Given the description of an element on the screen output the (x, y) to click on. 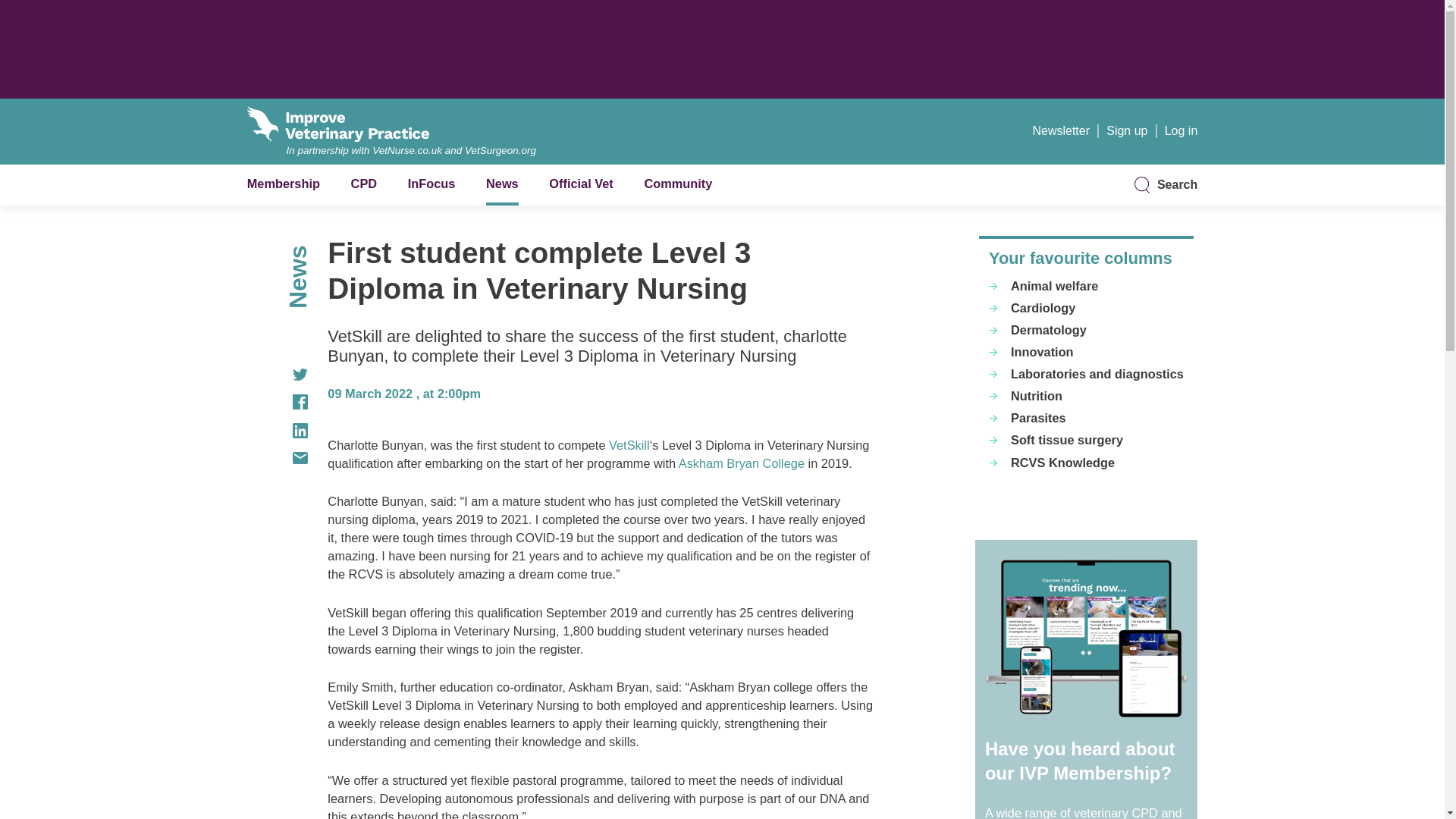
Share on Facebook (277, 401)
Log in (1181, 130)
News (502, 183)
Official Vet (580, 183)
Askham Bryan College (741, 463)
InFocus (431, 183)
Share on LinkedIn (277, 430)
Membership (283, 183)
Share via Email (277, 458)
VetSkill (628, 445)
